Given the description of an element on the screen output the (x, y) to click on. 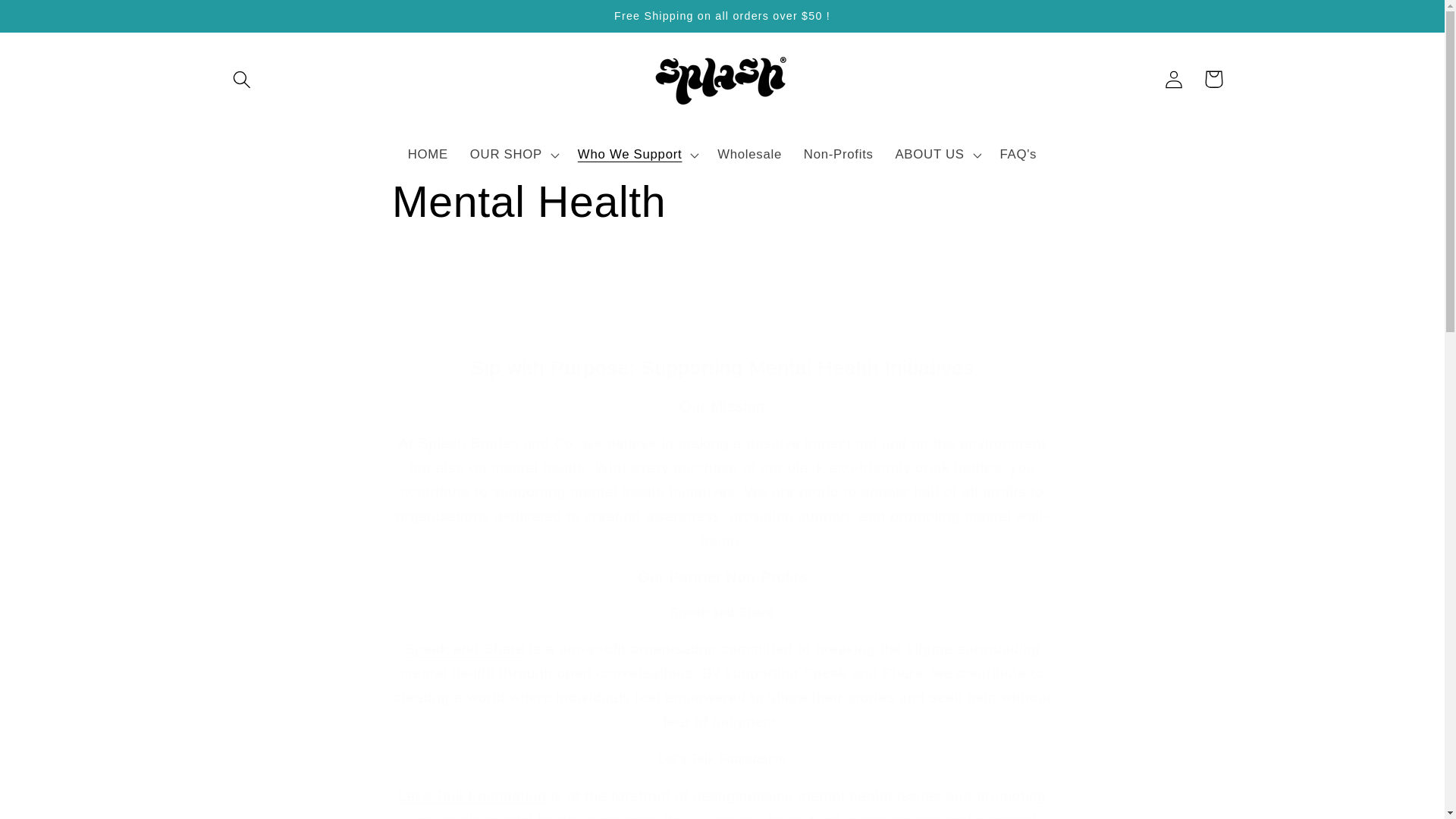
HOME (427, 154)
Mental Health (721, 201)
Lets Talk Australia (506, 795)
Skip to content (55, 20)
